Given the description of an element on the screen output the (x, y) to click on. 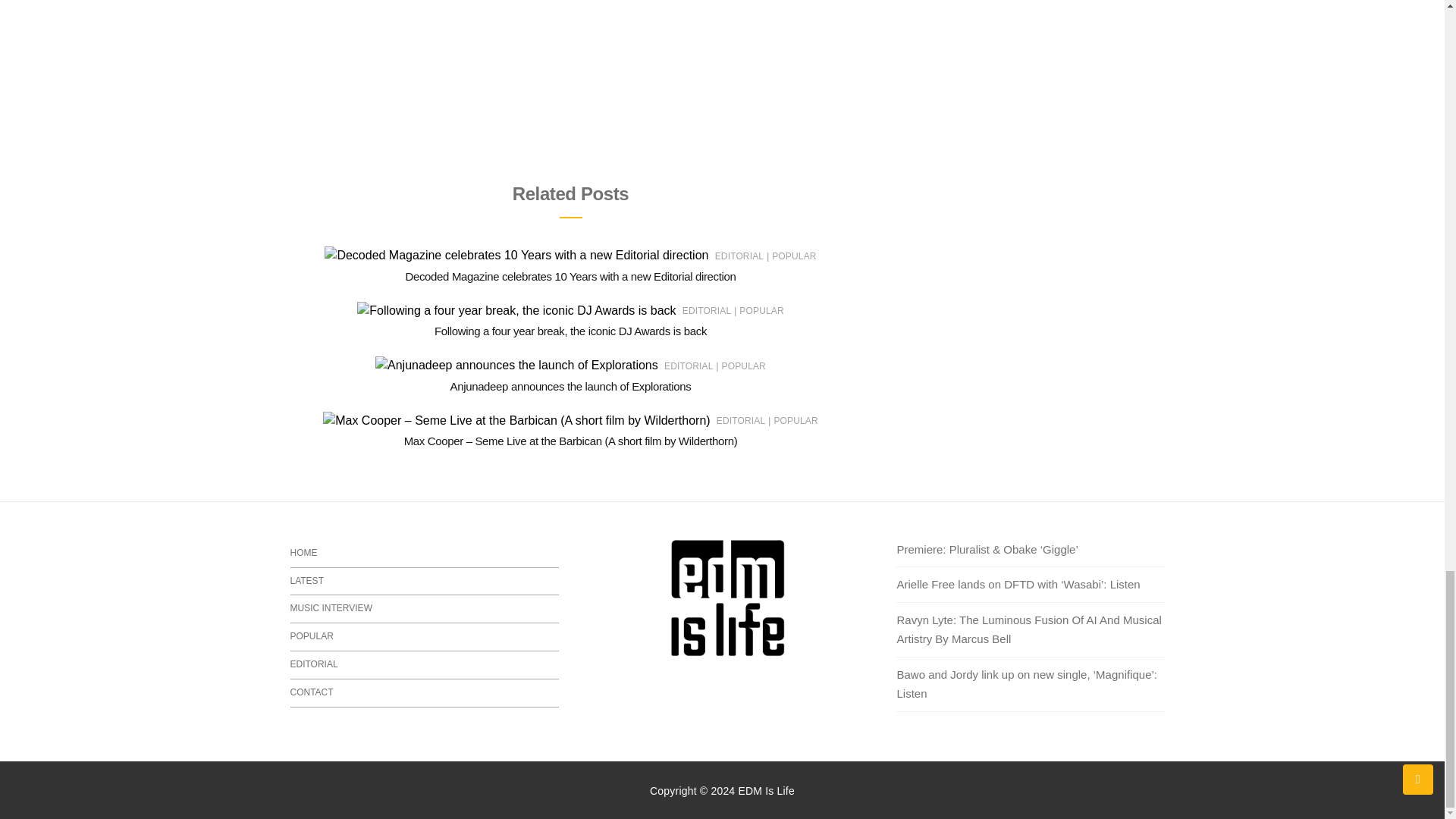
POPULAR (793, 255)
MUSIC INTERVIEW (424, 609)
Anjunadeep announces the launch of Explorations (570, 386)
Anjunadeep announces the launch of Explorations (570, 386)
Following a four year break, the iconic DJ Awards is back (569, 330)
POPULAR (743, 366)
EDITORIAL (738, 255)
EDITORIAL (706, 310)
